Given the description of an element on the screen output the (x, y) to click on. 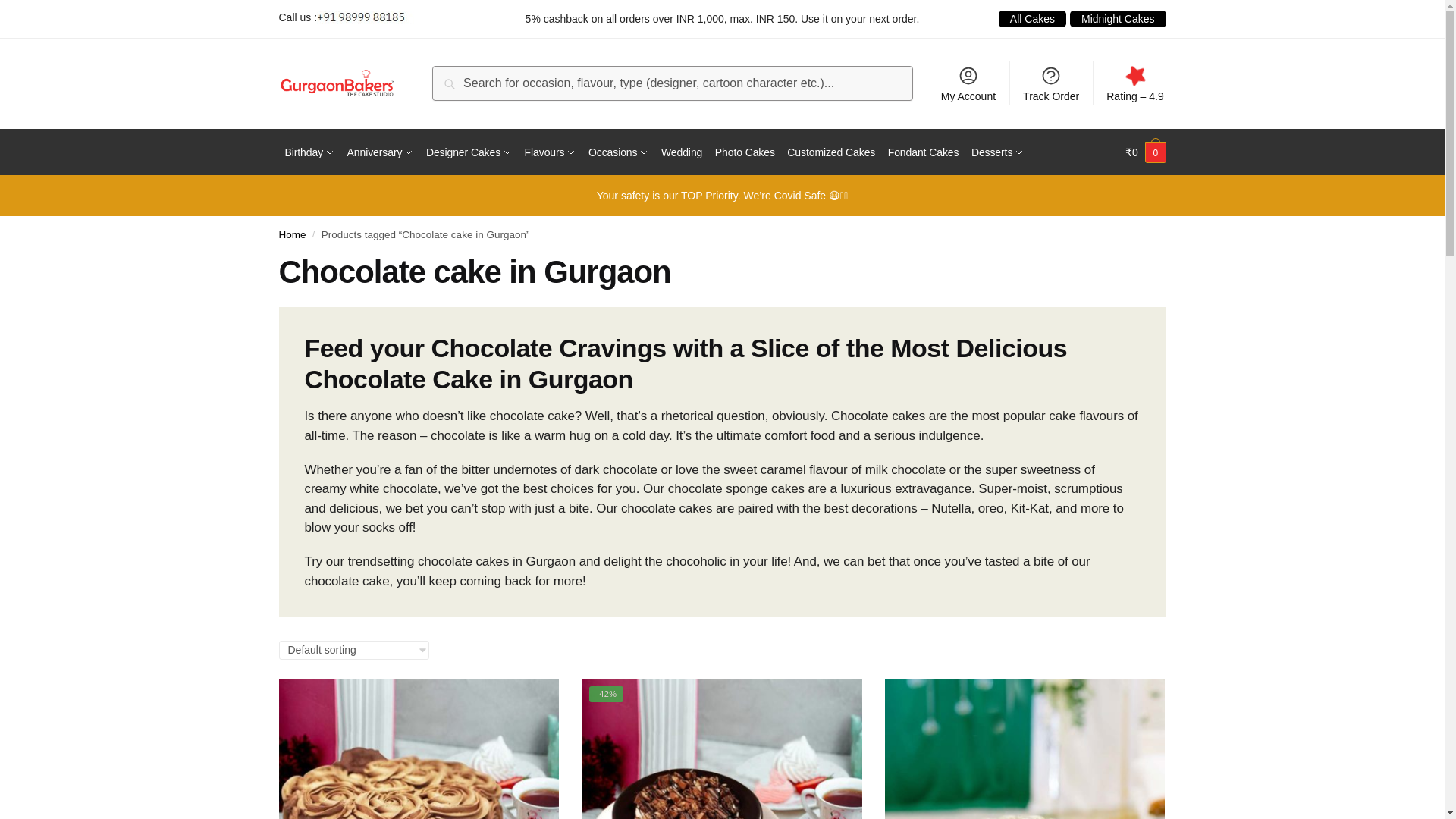
My Account (967, 83)
Birthday (309, 152)
Midnight Cakes (1118, 18)
Amazing  Chocolate Devil Birthday Cake (720, 748)
Track Order (1051, 83)
All Cakes (1031, 18)
A Chocolate Mocha Cake (419, 748)
Amazing Chocolate Sauce Drizzle Cake (1025, 748)
Designer Cakes (469, 152)
Anniversary (380, 152)
Search (468, 85)
